Given the description of an element on the screen output the (x, y) to click on. 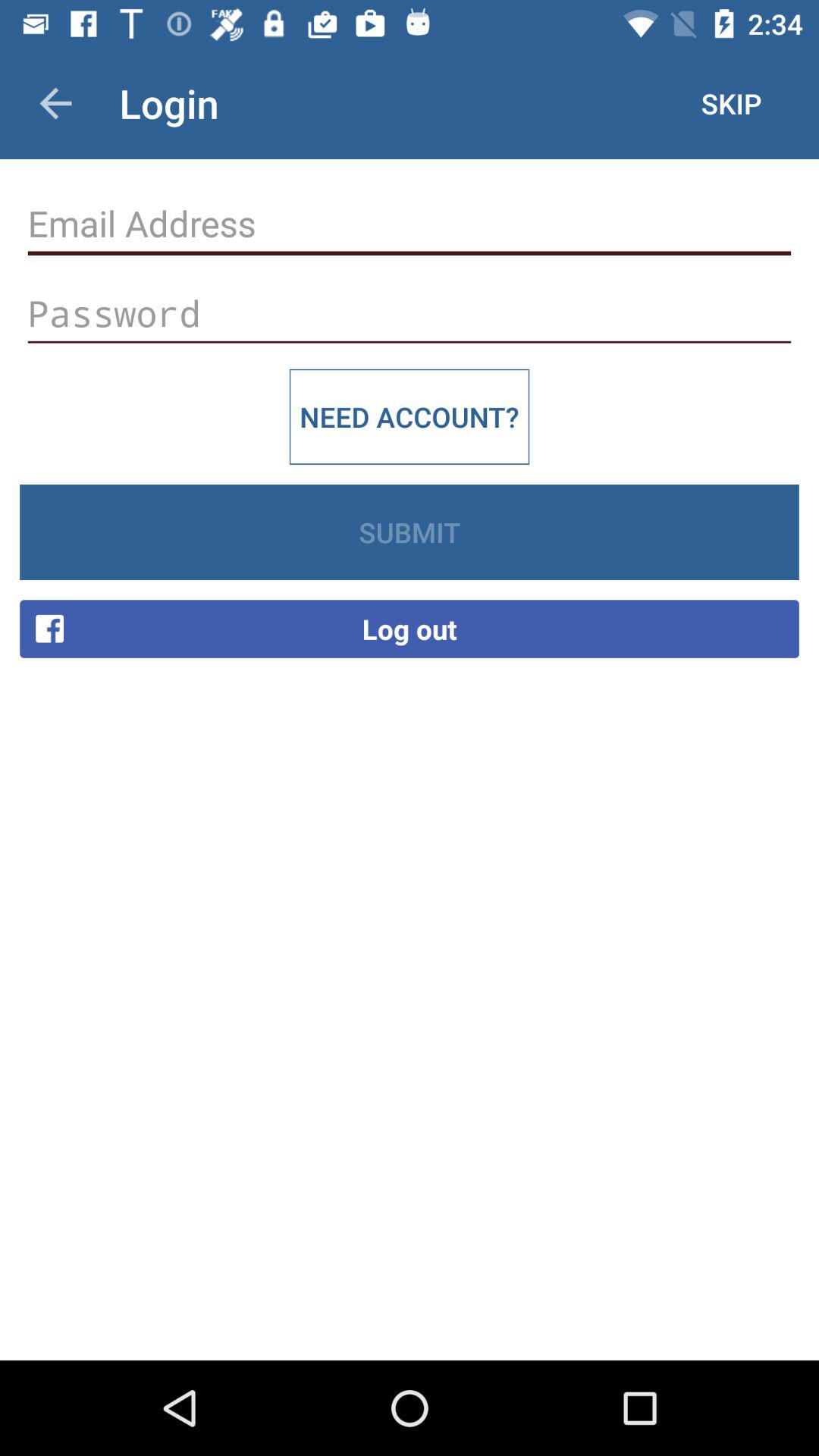
open item next to the login icon (55, 103)
